Given the description of an element on the screen output the (x, y) to click on. 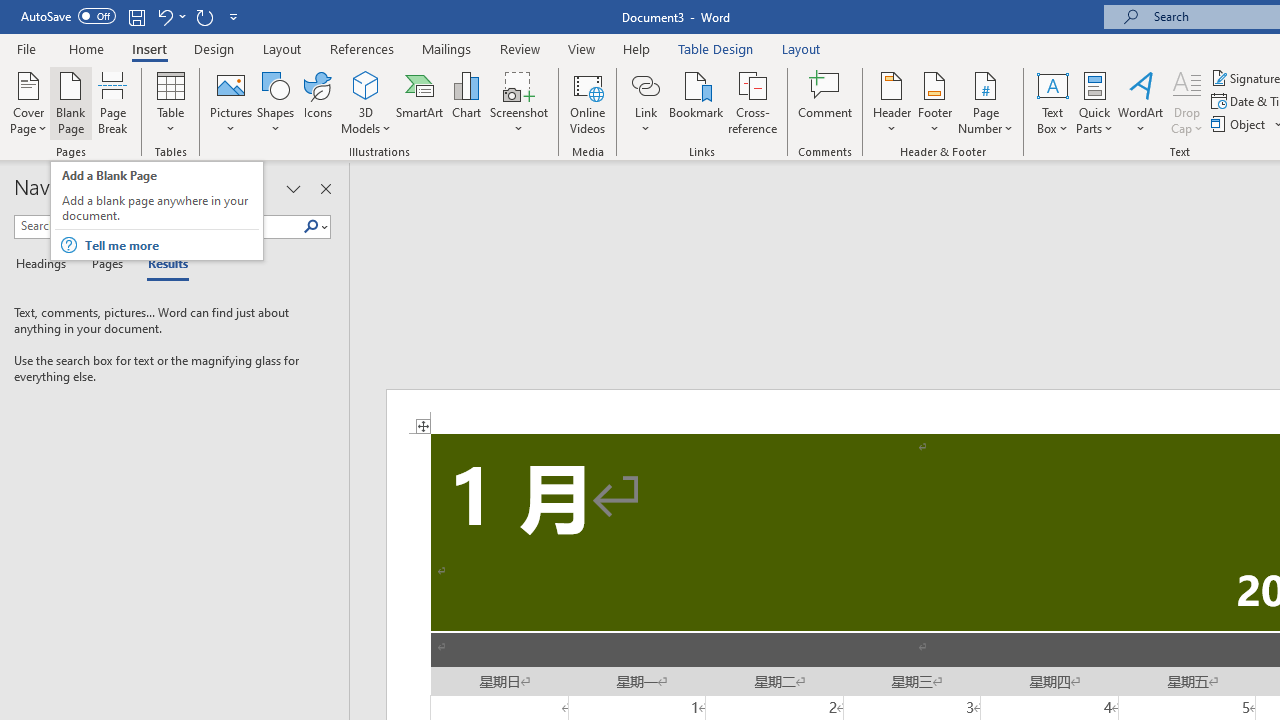
Link (645, 102)
Link (645, 84)
Table (170, 102)
WordArt (1141, 102)
Object... (1240, 124)
Bookmark... (695, 102)
